Given the description of an element on the screen output the (x, y) to click on. 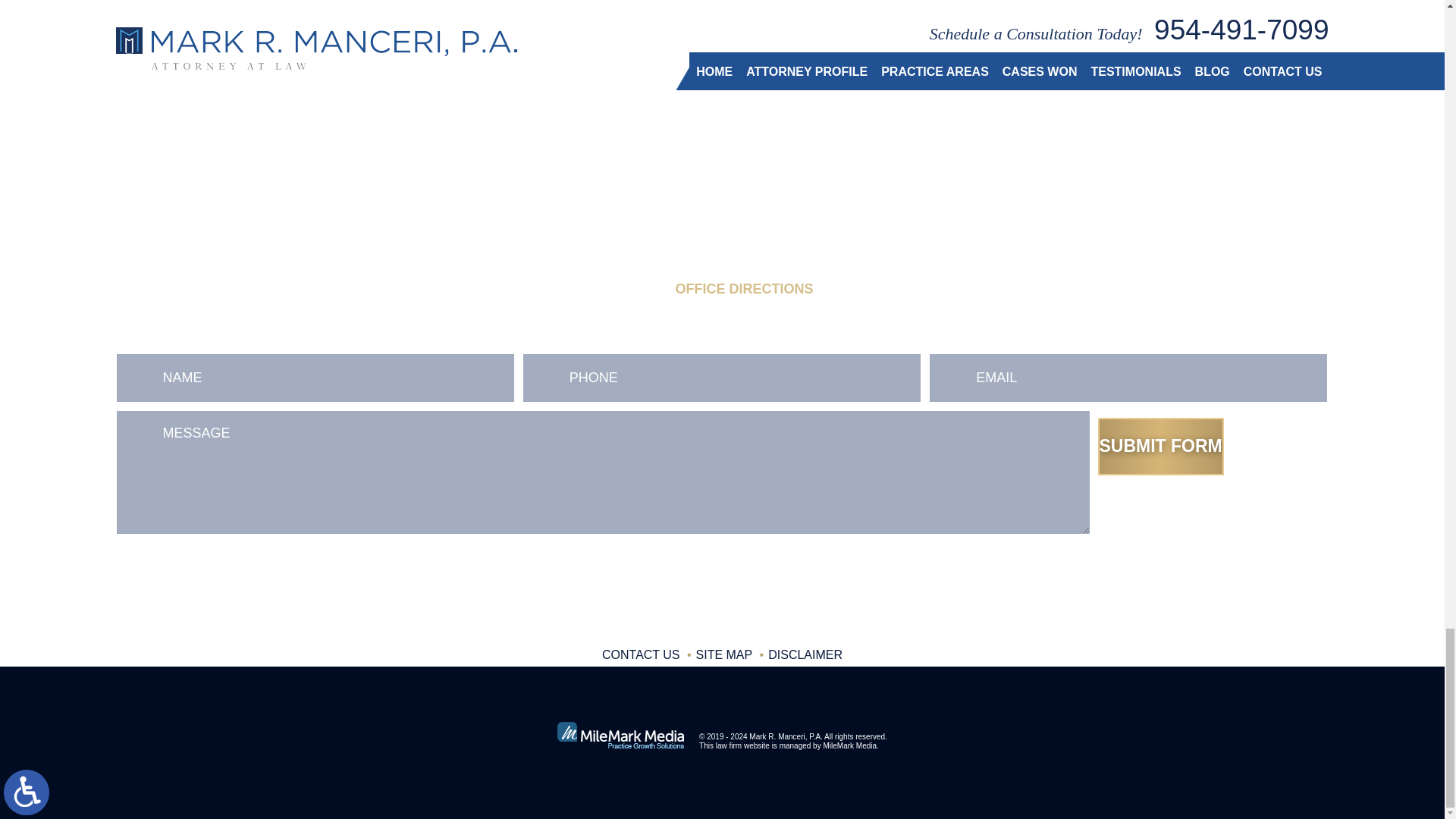
Submit Form (1160, 445)
